Given the description of an element on the screen output the (x, y) to click on. 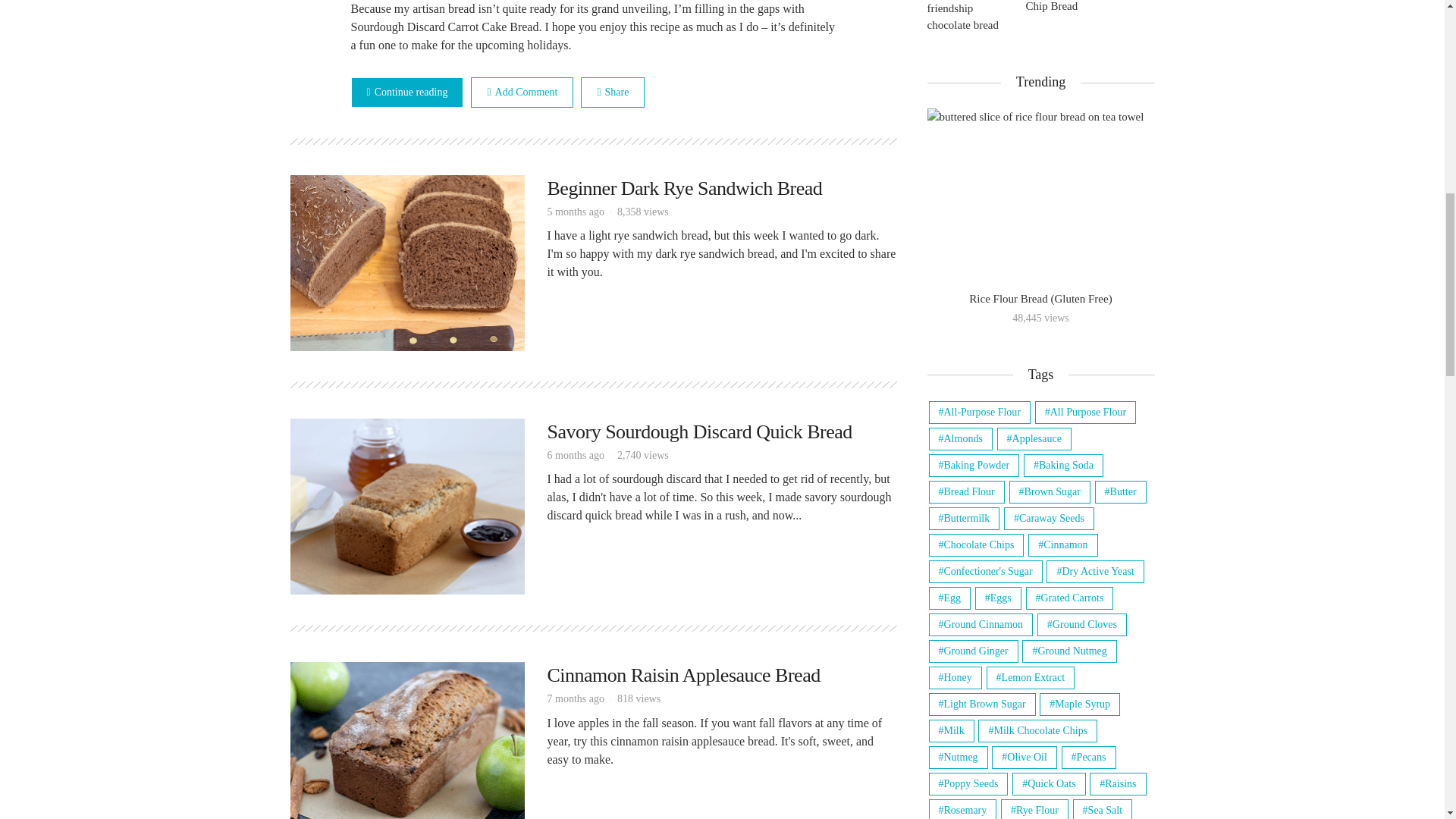
Savory Sourdough Discard Quick Bread (699, 431)
Savory Sourdough Discard Quick Bread (406, 504)
Sourdough Discard Carrot Cake Bread (406, 91)
Beginner Dark Rye Sandwich Bread (684, 188)
Cinnamon Raisin Applesauce Bread (406, 748)
Cinnamon Raisin Applesauce Bread (684, 675)
Beginner Dark Rye Sandwich Bread (406, 261)
